Given the description of an element on the screen output the (x, y) to click on. 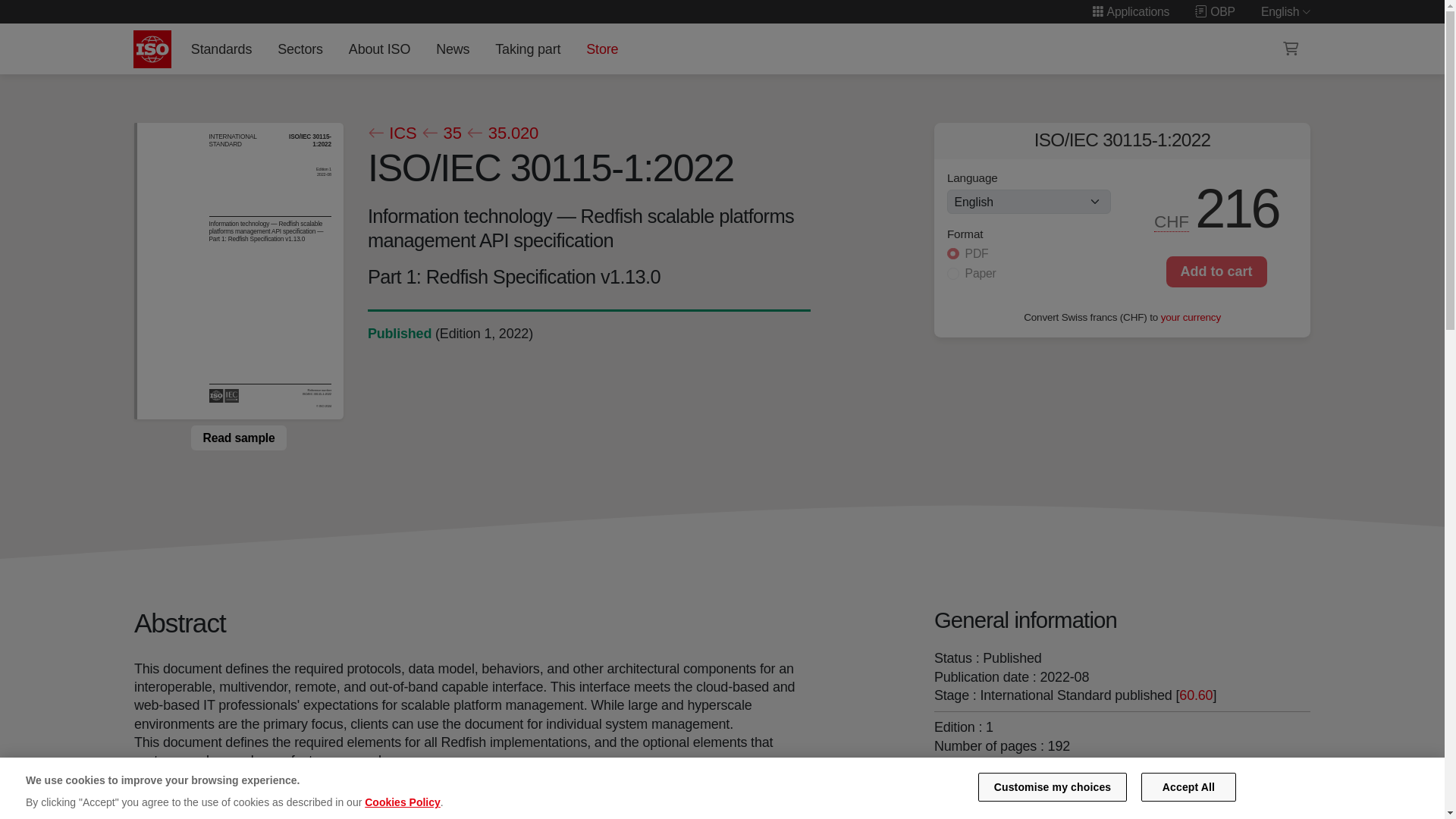
 OBP (1214, 11)
Taking part (528, 48)
Sectors (300, 48)
Shopping cart (1290, 49)
Standards (220, 48)
ISO's applications portal (1130, 11)
Life cycle (398, 333)
your currency (1190, 316)
60.60 (1195, 694)
